Given the description of an element on the screen output the (x, y) to click on. 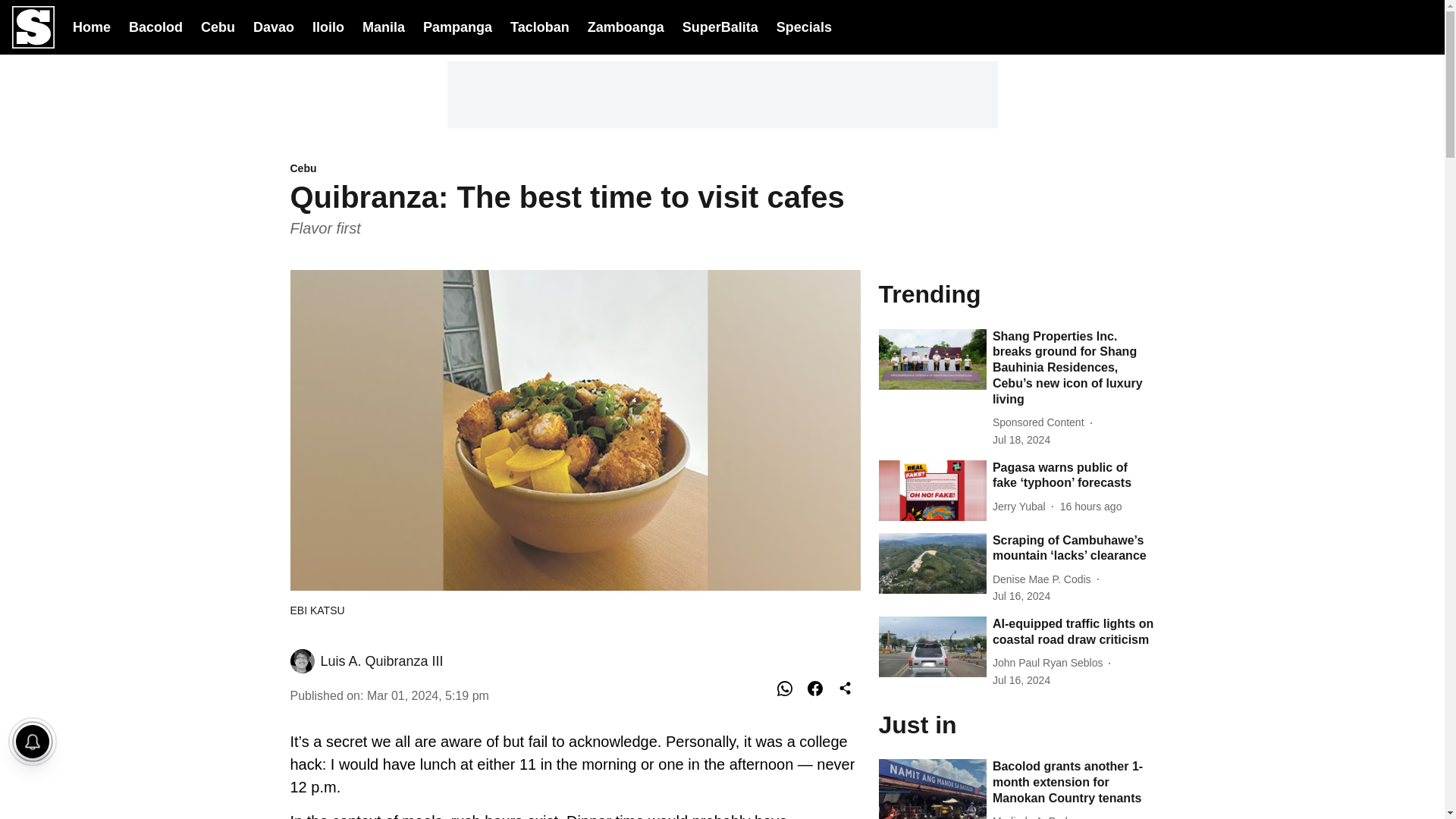
2024-07-16 14:12 (1020, 680)
Iloilo (328, 26)
Sponsored Content (1041, 422)
SuperBalita (720, 27)
2024-07-18 10:46 (1090, 506)
Cebu (574, 169)
2024-07-18 02:10 (1020, 439)
Manila (383, 26)
Pampanga (457, 26)
Trending (1015, 293)
Denise Mae P. Codis (1044, 579)
2024-07-16 14:02 (1020, 596)
Home (91, 26)
Zamboanga (625, 26)
